Given the description of an element on the screen output the (x, y) to click on. 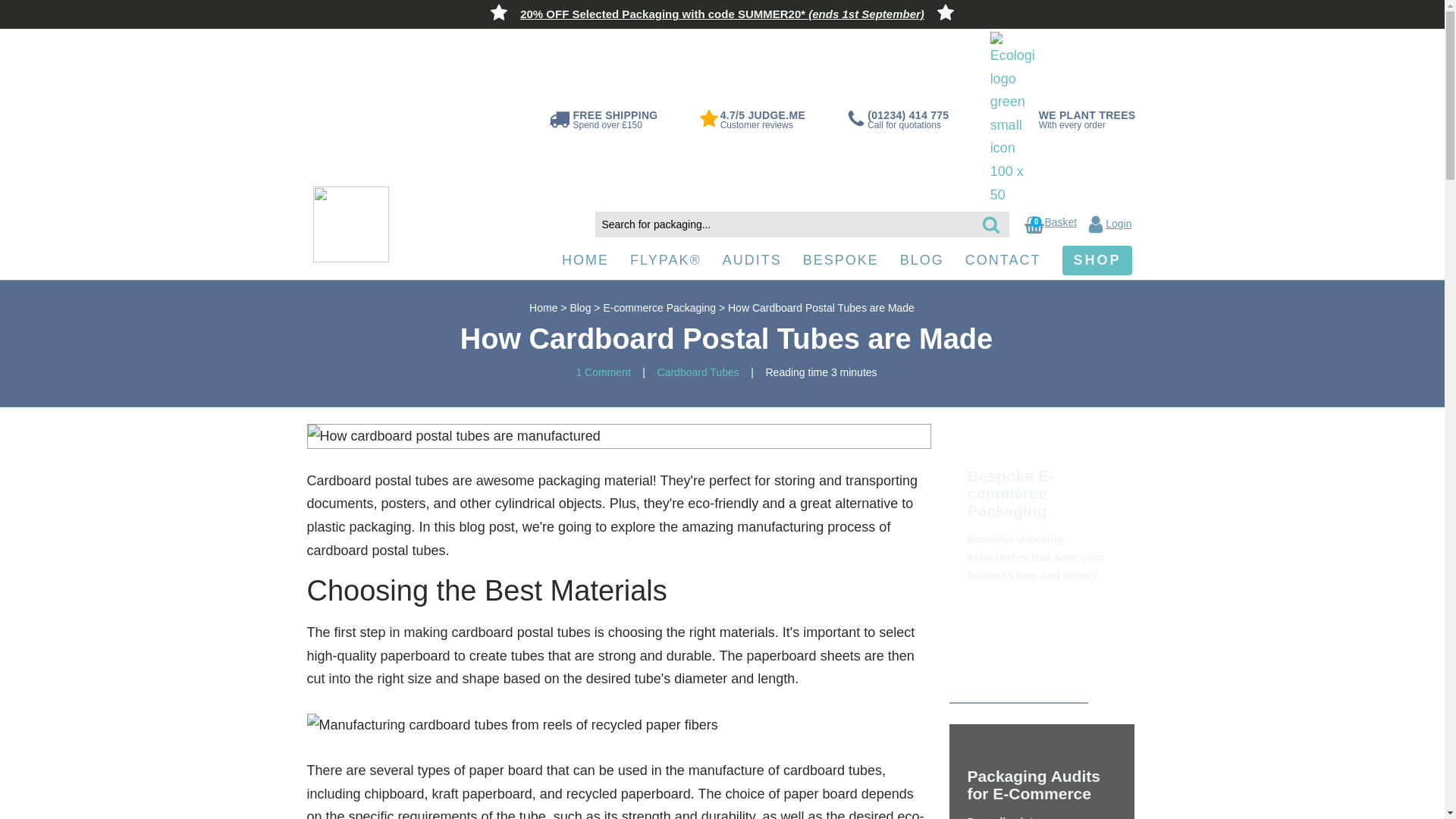
BLOG (922, 260)
BESPOKE (840, 260)
Basket (1060, 222)
0 (1034, 224)
Go (17, 12)
Blog (580, 307)
HOME (584, 260)
Login (1108, 224)
AUDITS (751, 260)
CONTACT (1002, 260)
